Given the description of an element on the screen output the (x, y) to click on. 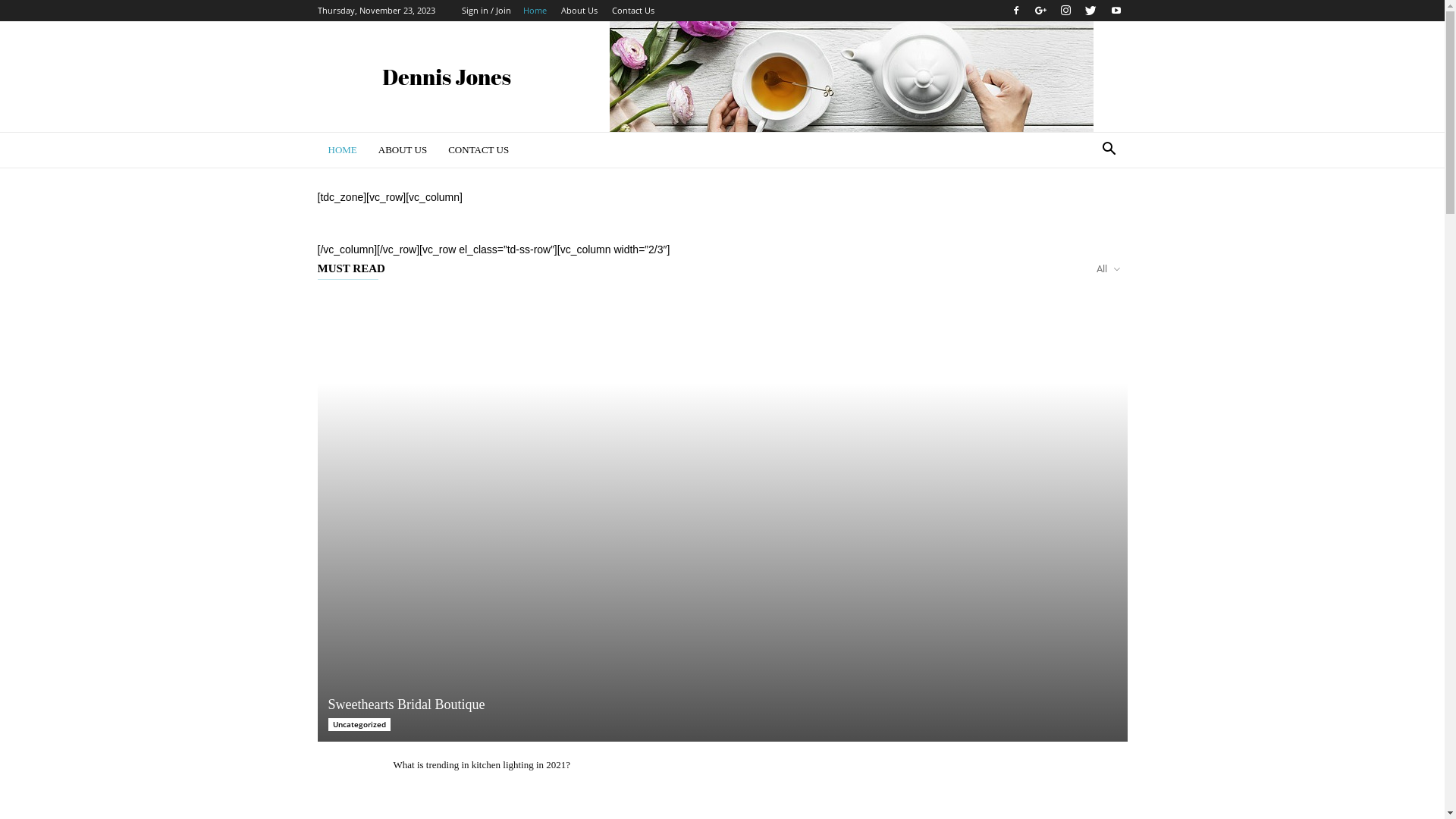
Instagram Element type: hover (1065, 10)
What is trending in kitchen lighting in 2021? Element type: text (481, 764)
Sweethearts Bridal Boutique Element type: hover (721, 517)
Uncategorized Element type: text (358, 724)
CONTACT US Element type: text (478, 149)
About Us Element type: text (579, 9)
ABOUT US Element type: text (402, 149)
Sign in / Join Element type: text (485, 9)
Home Element type: text (534, 9)
Google+ Element type: hover (1040, 10)
Contact Us Element type: text (632, 9)
Twitter Element type: hover (1090, 10)
HOME Element type: text (341, 149)
Search Element type: text (1085, 210)
Youtube Element type: hover (1115, 10)
Sweethearts Bridal Boutique Element type: text (405, 704)
What is trending in kitchen lighting in 2021? Element type: hover (346, 779)
Facebook Element type: hover (1015, 10)
